Given the description of an element on the screen output the (x, y) to click on. 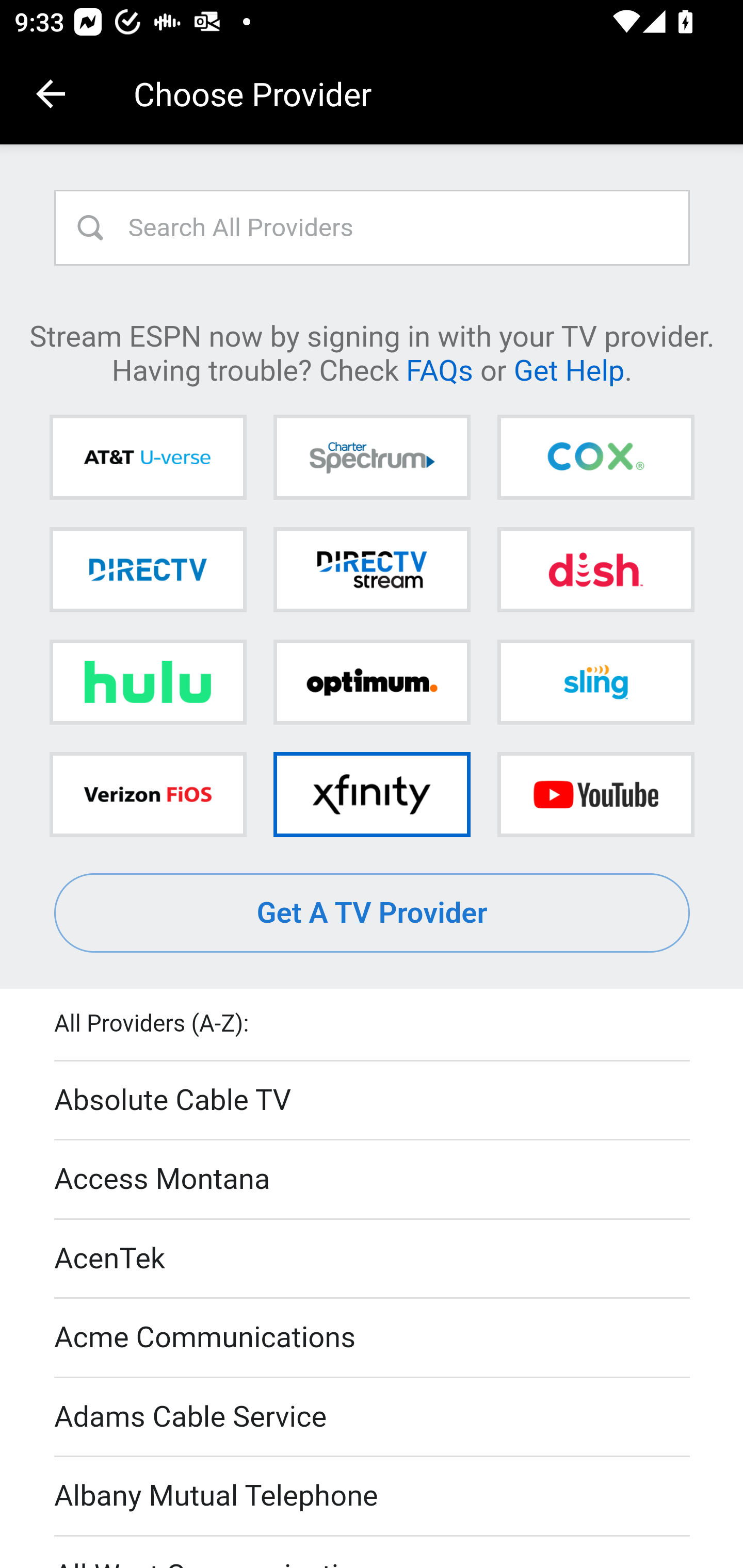
Navigate up (50, 93)
FAQs (438, 369)
Get Help (569, 369)
AT&T U-verse (147, 457)
Charter Spectrum (371, 457)
Cox (595, 457)
DIRECTV (147, 568)
DIRECTV STREAM (371, 568)
DISH (595, 568)
Hulu (147, 681)
Optimum (371, 681)
Sling TV (595, 681)
Verizon FiOS (147, 793)
Xfinity (371, 793)
YouTube TV (595, 793)
Get A TV Provider (372, 912)
Absolute Cable TV (372, 1100)
Access Montana (372, 1178)
AcenTek (372, 1258)
Acme Communications (372, 1338)
Adams Cable Service (372, 1417)
Albany Mutual Telephone (372, 1497)
